Given the description of an element on the screen output the (x, y) to click on. 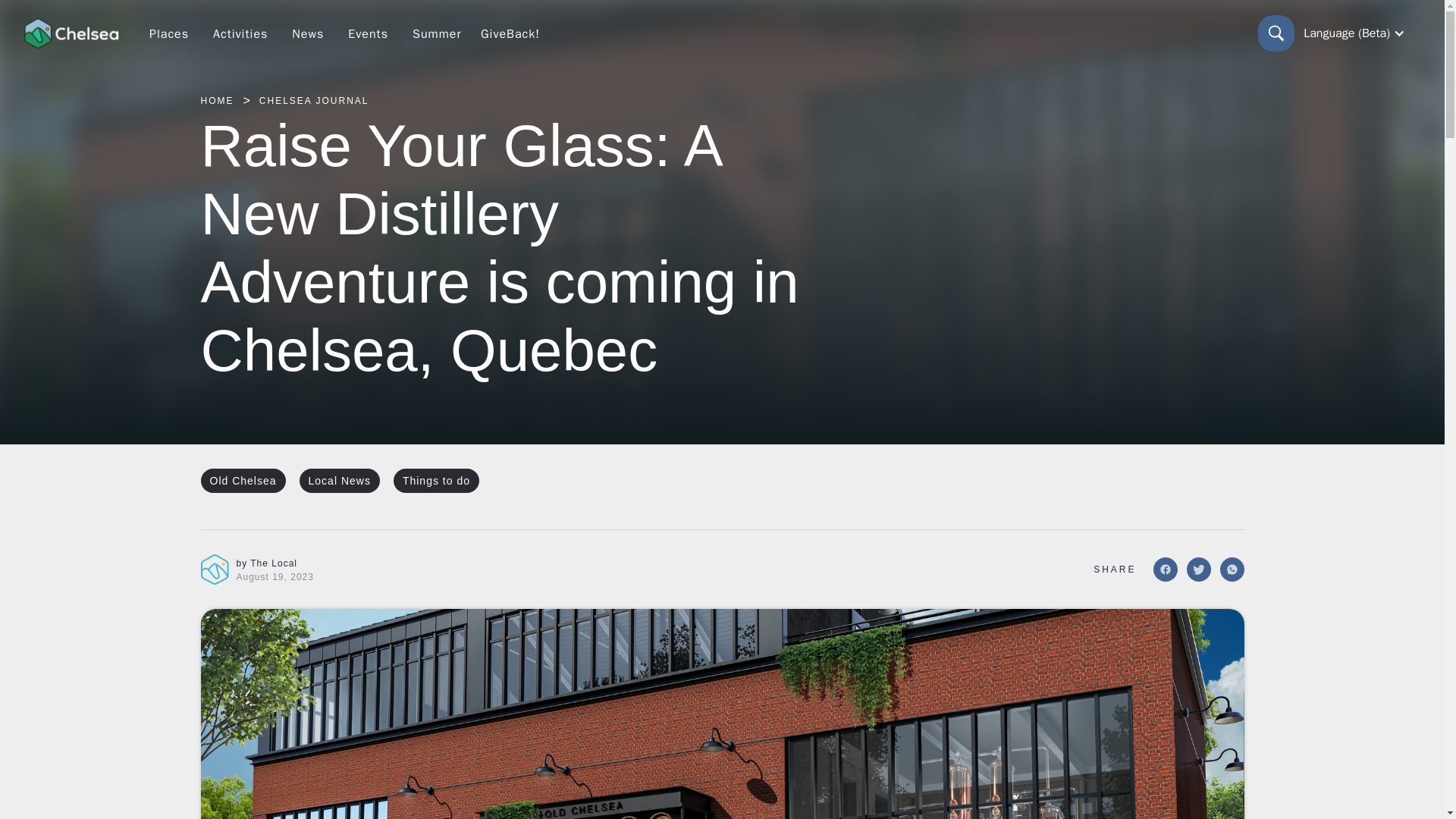
Local News (339, 480)
CHELSEA JOURNAL (314, 100)
Things to do (436, 480)
GiveBack! (509, 33)
Events (368, 33)
Places (168, 33)
Activities (239, 33)
Old Chelsea (242, 480)
HOME (216, 100)
Summer (436, 33)
